Given the description of an element on the screen output the (x, y) to click on. 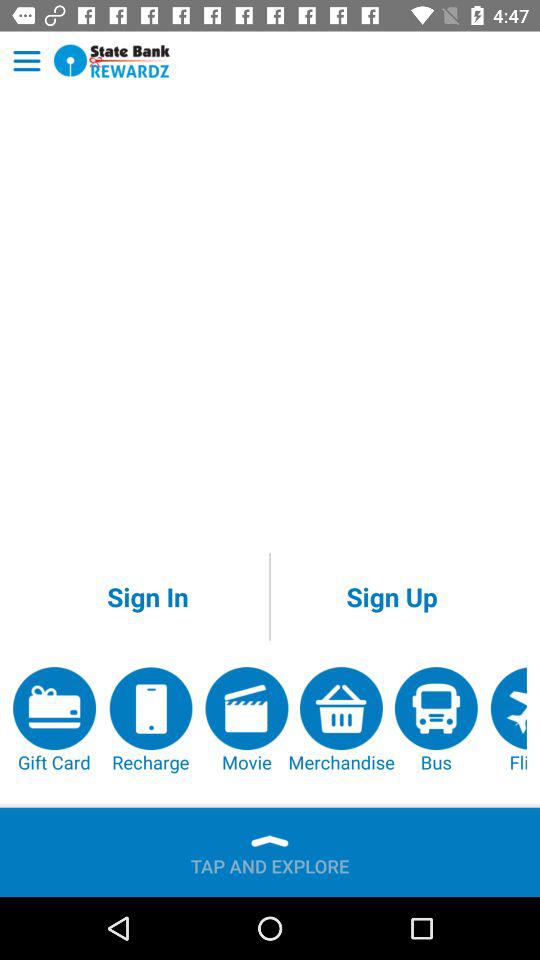
click app above the recharge item (147, 596)
